Given the description of an element on the screen output the (x, y) to click on. 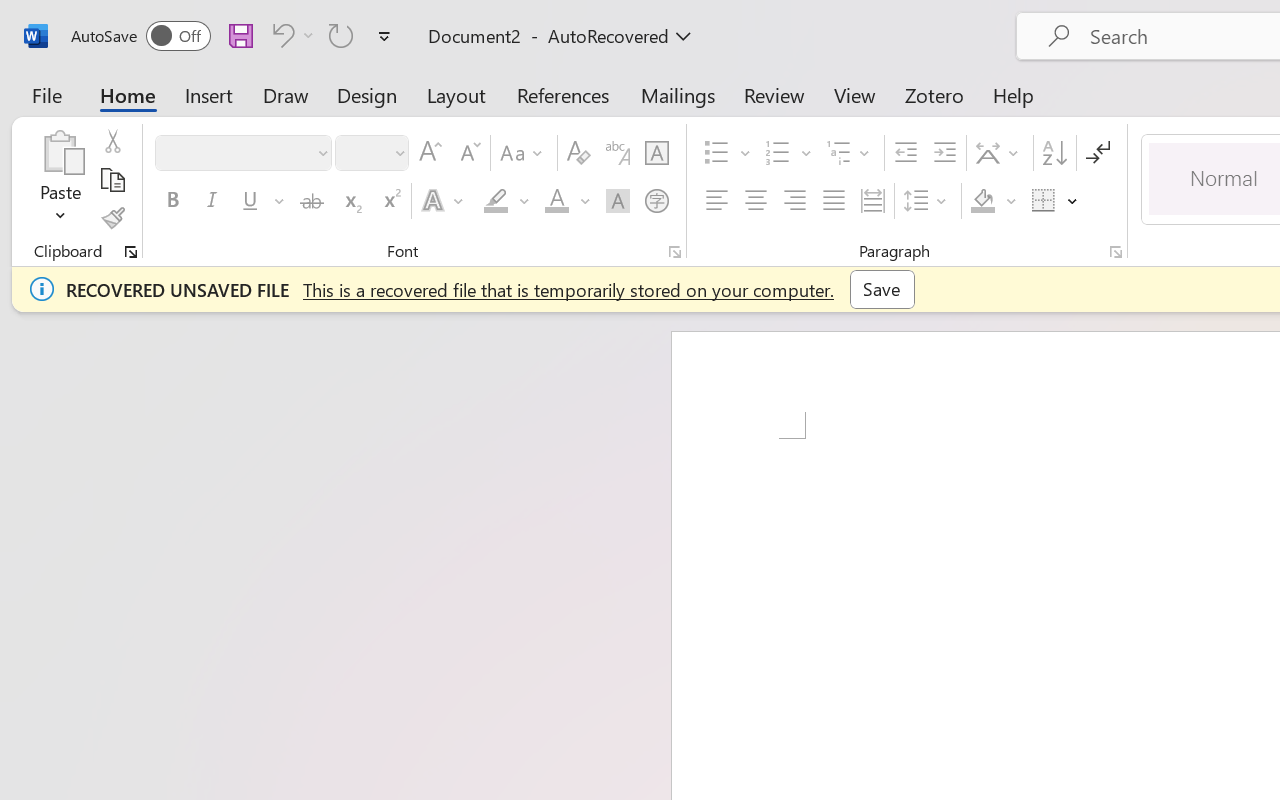
Multilevel List (850, 153)
Can't Repeat (341, 35)
Help (1013, 94)
Distributed (872, 201)
Align Right (794, 201)
Shading (993, 201)
Center (756, 201)
